Given the description of an element on the screen output the (x, y) to click on. 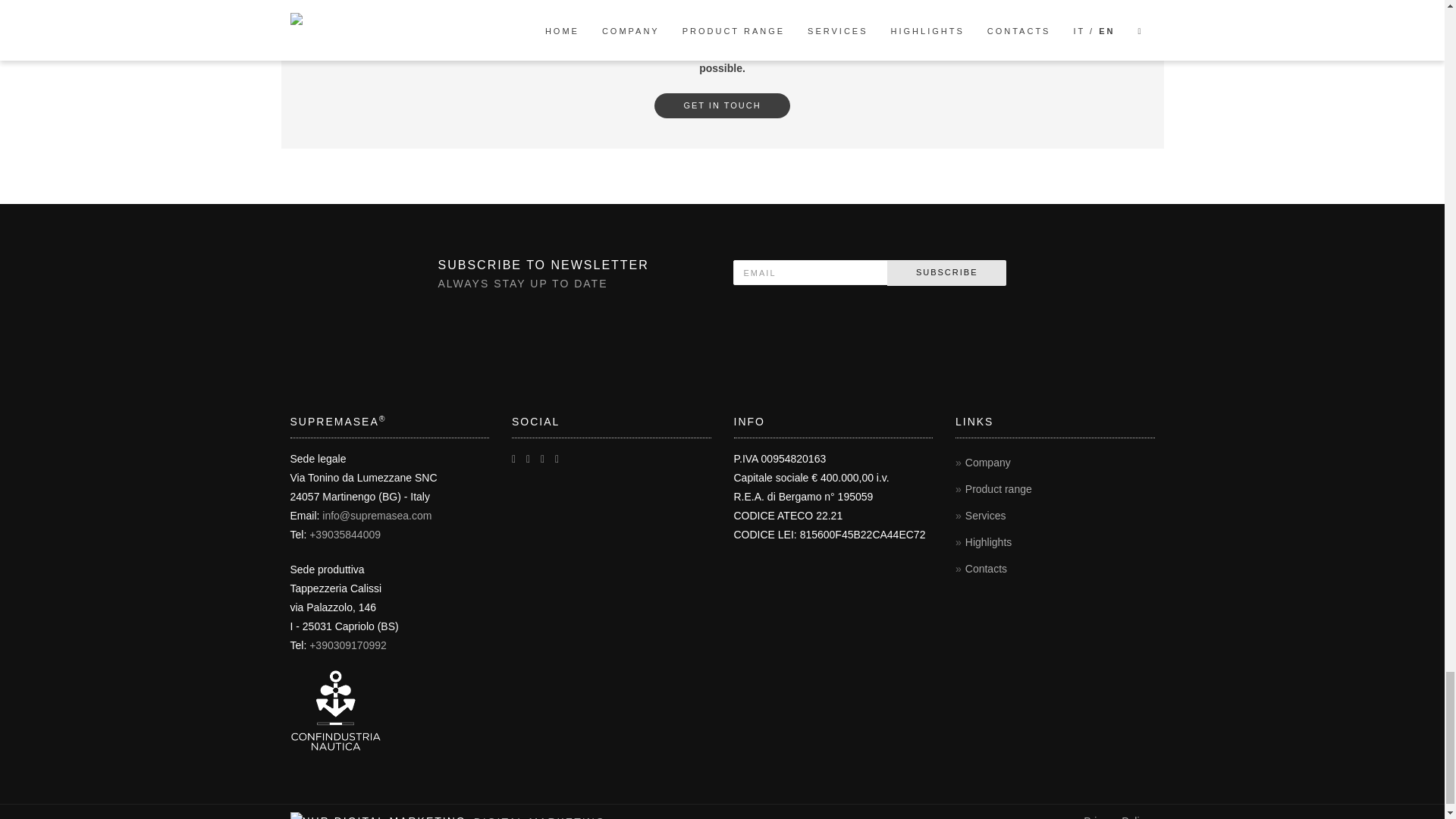
SUBSCRIBE (946, 272)
GET IN TOUCH (721, 105)
